Given the description of an element on the screen output the (x, y) to click on. 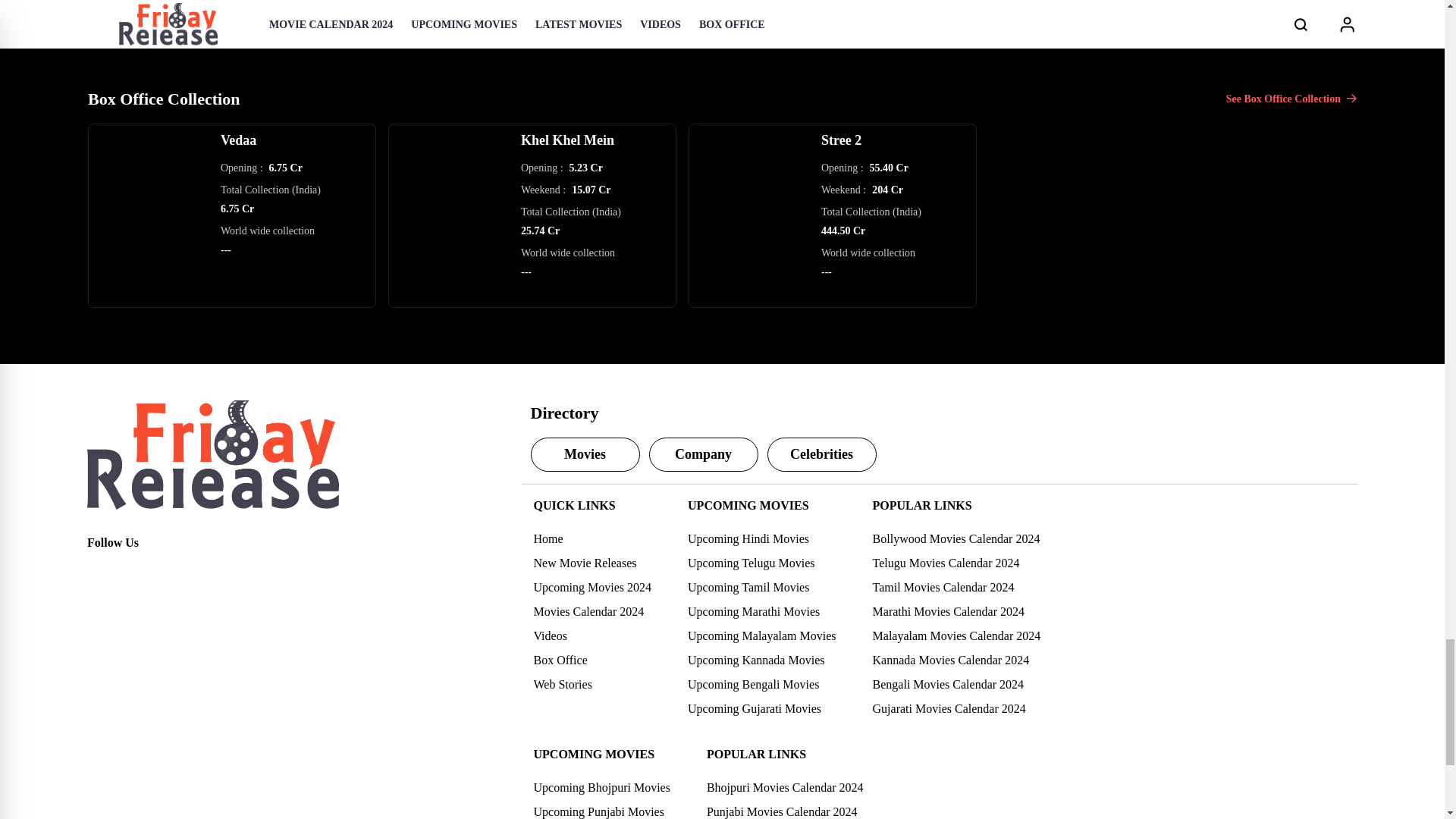
Youtube Page (199, 569)
Twitter Page (132, 569)
Facebook Page (99, 569)
Instagram Page (165, 569)
